Given the description of an element on the screen output the (x, y) to click on. 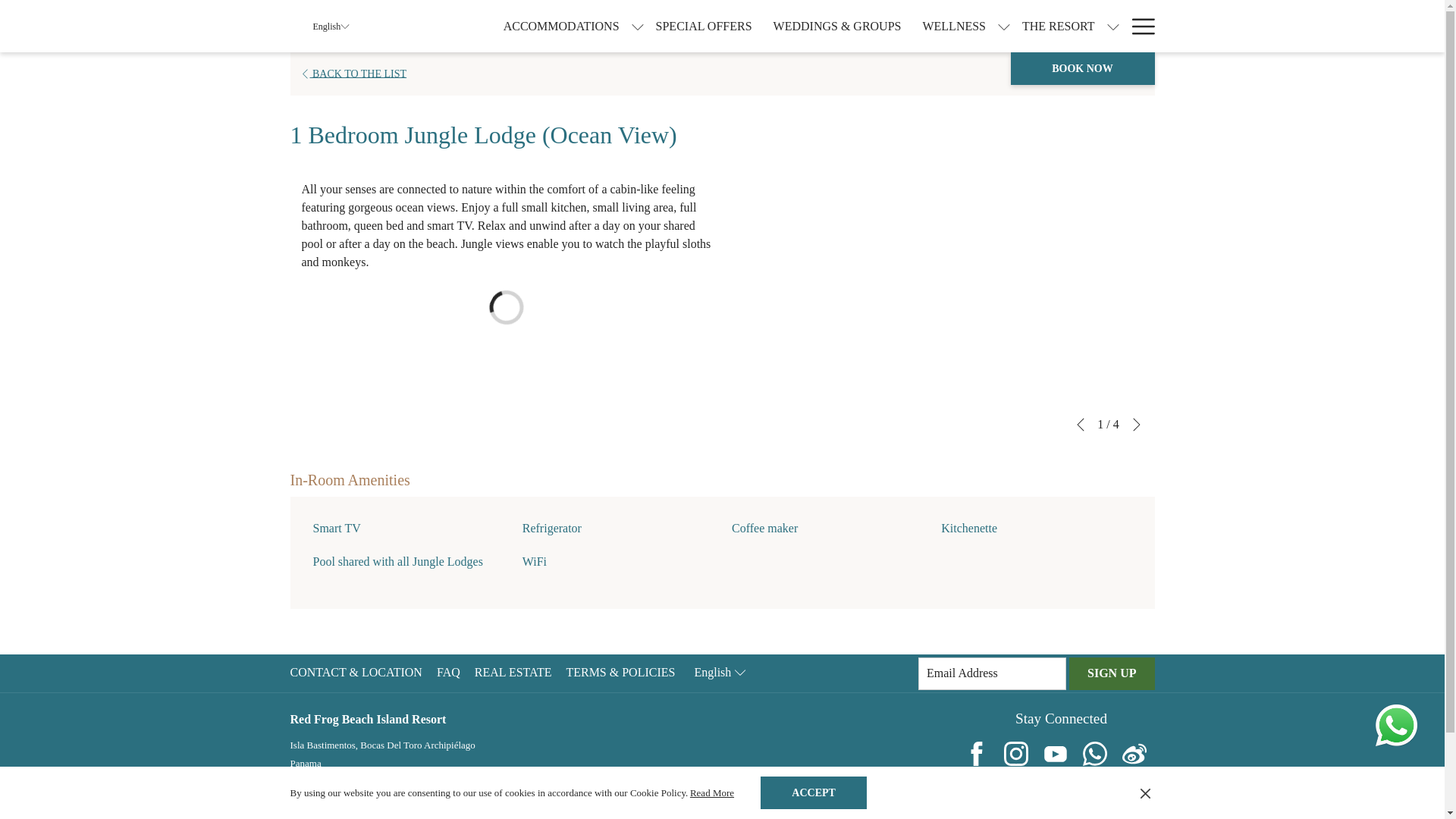
WELLNESS (953, 26)
Menu (1142, 26)
BOOK NOW (1082, 68)
Read More (711, 792)
English (331, 26)
SPECIAL OFFERS (703, 26)
ACCOMMODATIONS (561, 26)
THE RESORT (1058, 26)
ACCEPT (813, 792)
